Given the description of an element on the screen output the (x, y) to click on. 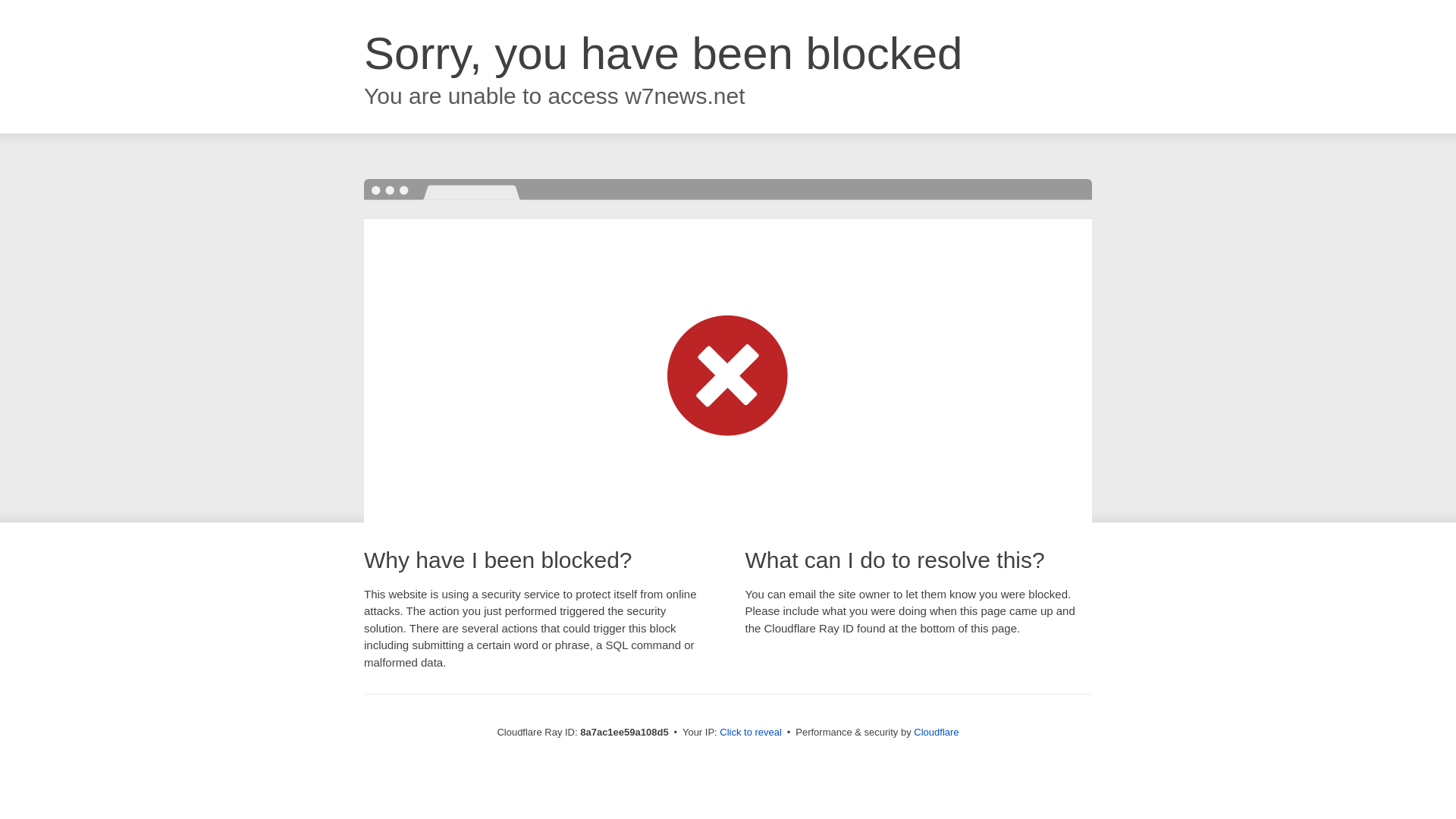
Click to reveal (750, 732)
Cloudflare (936, 731)
